Given the description of an element on the screen output the (x, y) to click on. 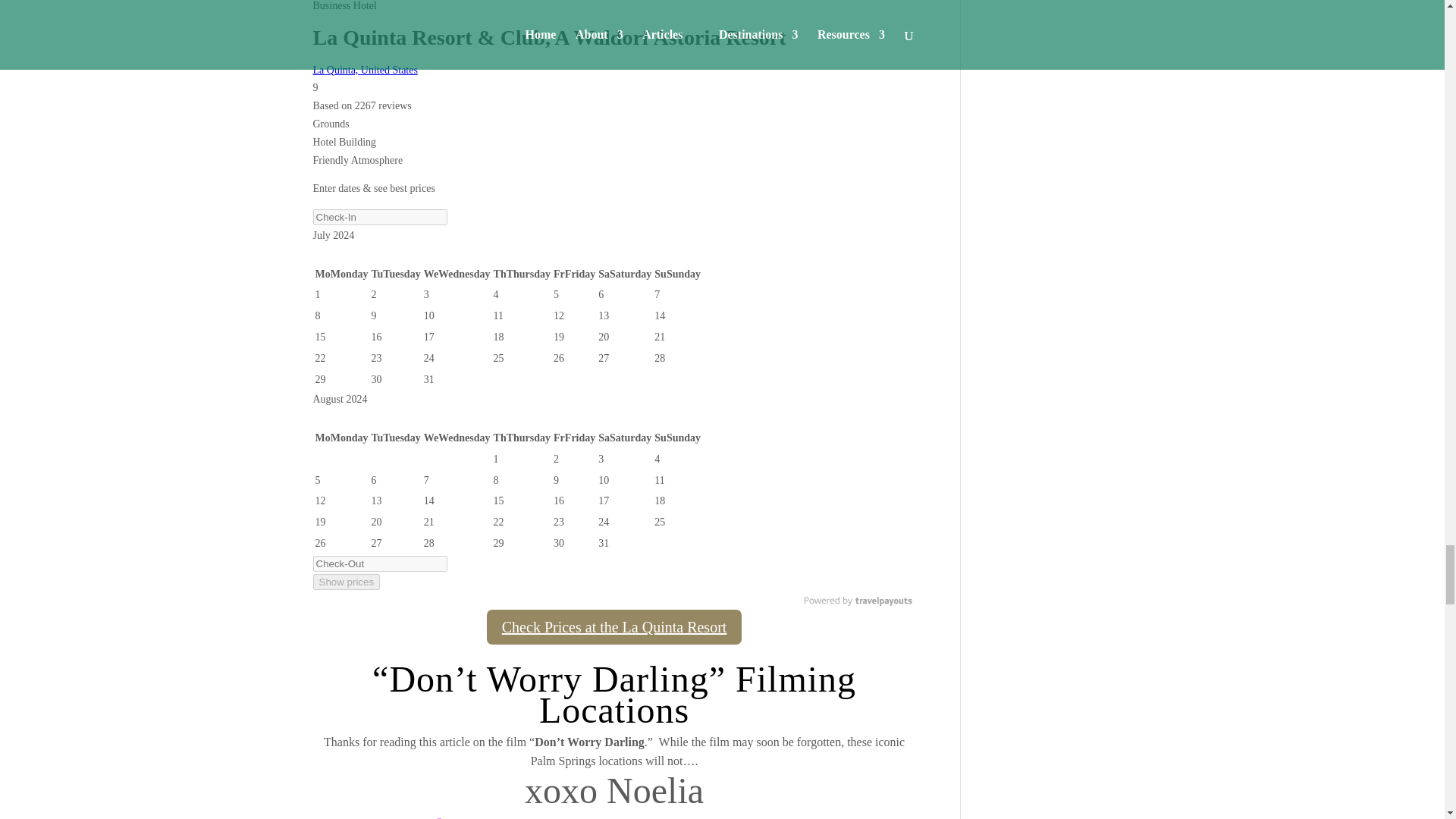
Check Prices at the La Quinta Resort (614, 627)
